Given the description of an element on the screen output the (x, y) to click on. 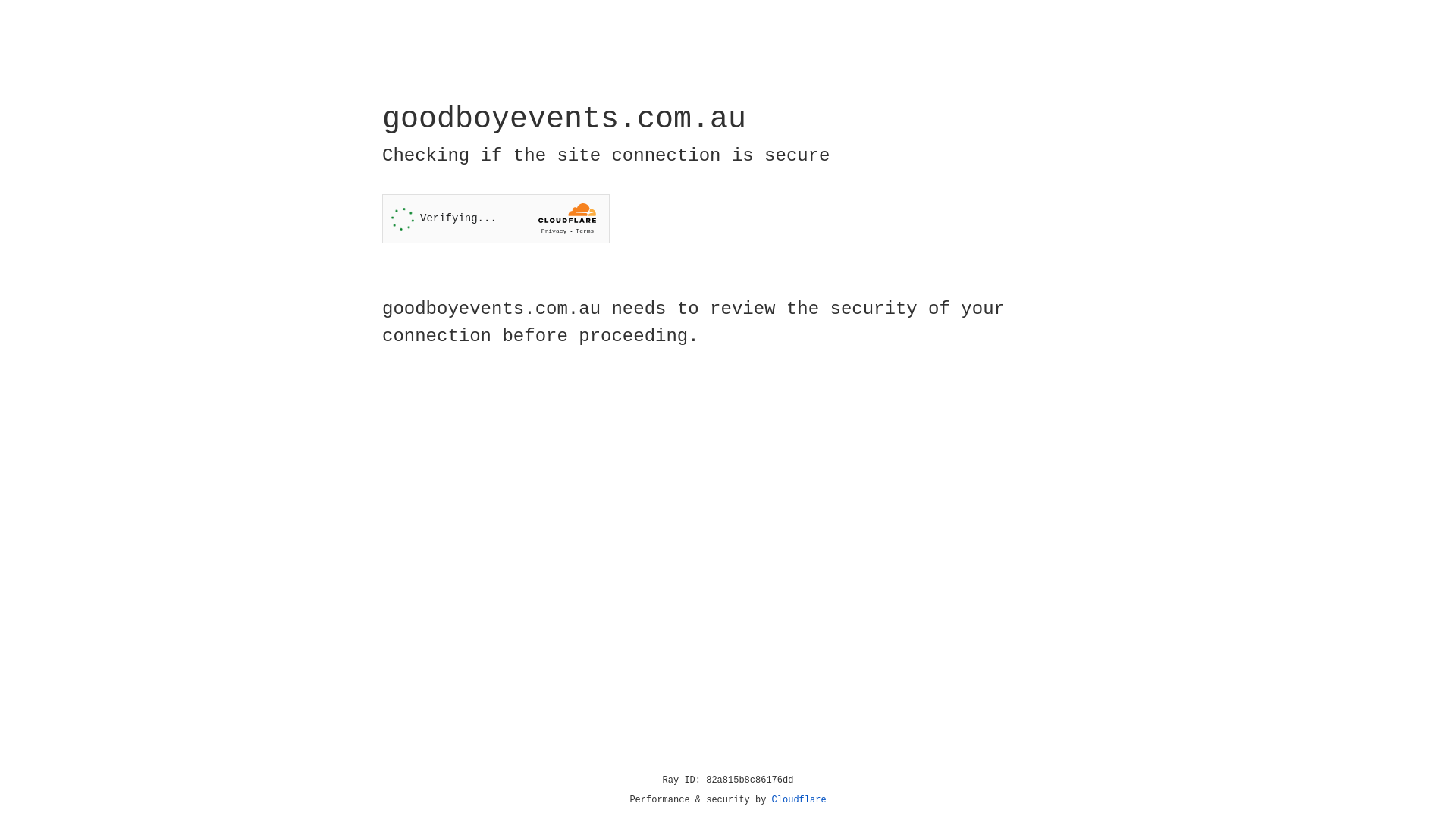
Cloudflare Element type: text (798, 799)
Widget containing a Cloudflare security challenge Element type: hover (495, 218)
